Given the description of an element on the screen output the (x, y) to click on. 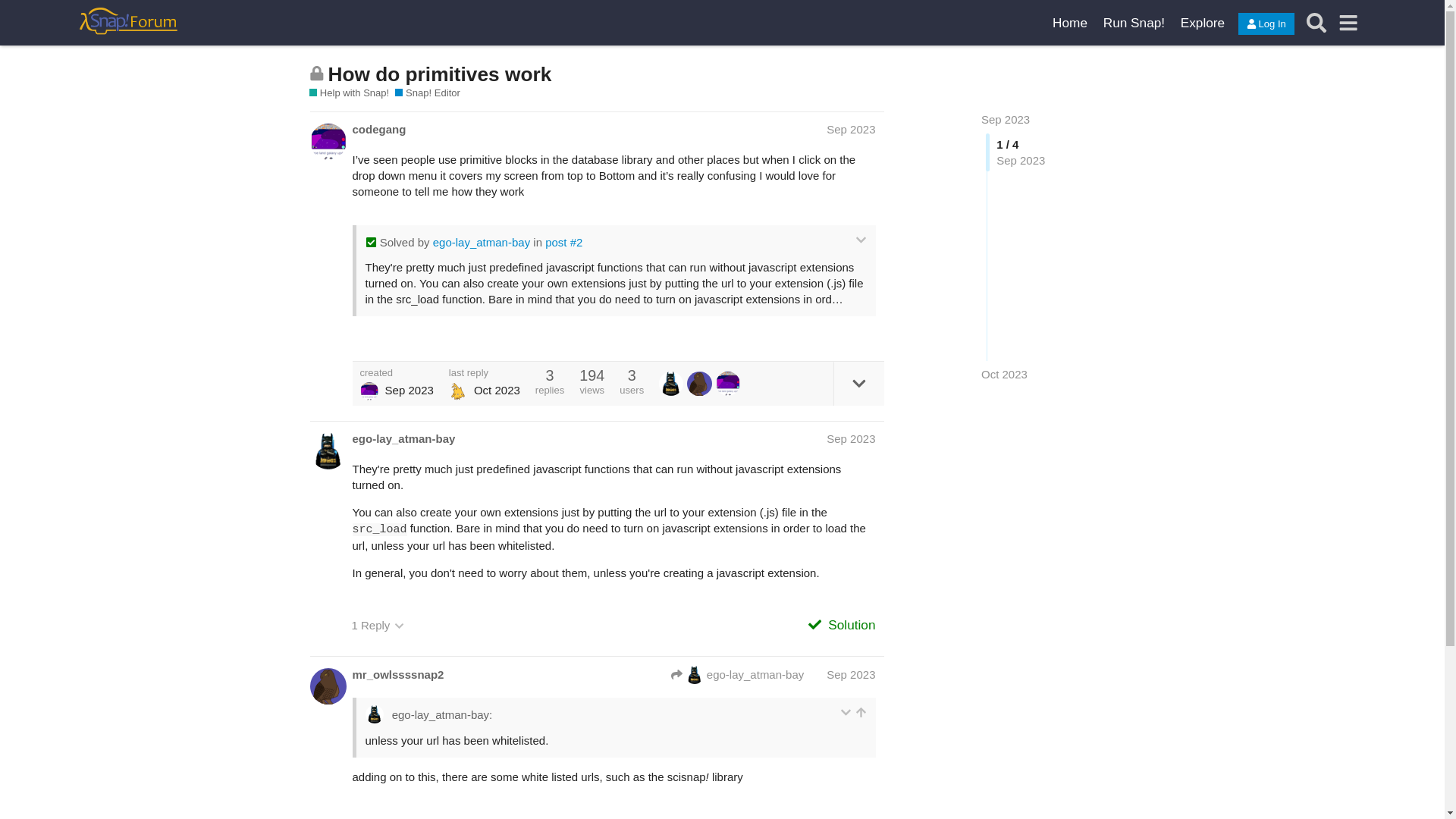
Sep 2023 (851, 128)
codegang (379, 129)
Post date (851, 128)
Sep 2023 (851, 674)
Snap!Cloud Homepage (1070, 22)
Home (1070, 22)
Help with Snap! (349, 92)
Search (1316, 22)
Log In (1265, 24)
Snap! Editor (427, 92)
Open the Snap! Editor (1133, 22)
How do primitives work (439, 74)
This topic is closed; it no longer accepts new replies (316, 73)
Sep 2023 (1005, 119)
